Given the description of an element on the screen output the (x, y) to click on. 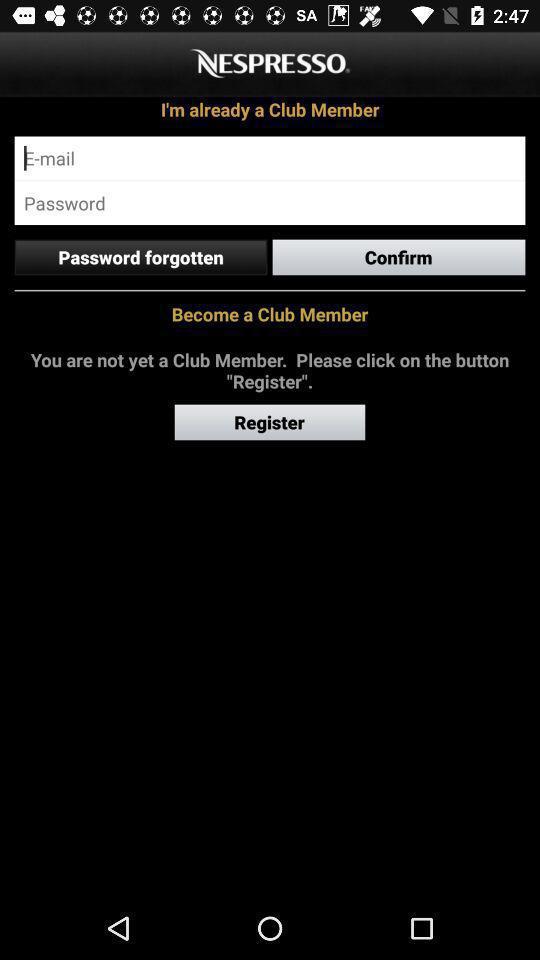
press the confirm (398, 257)
